Given the description of an element on the screen output the (x, y) to click on. 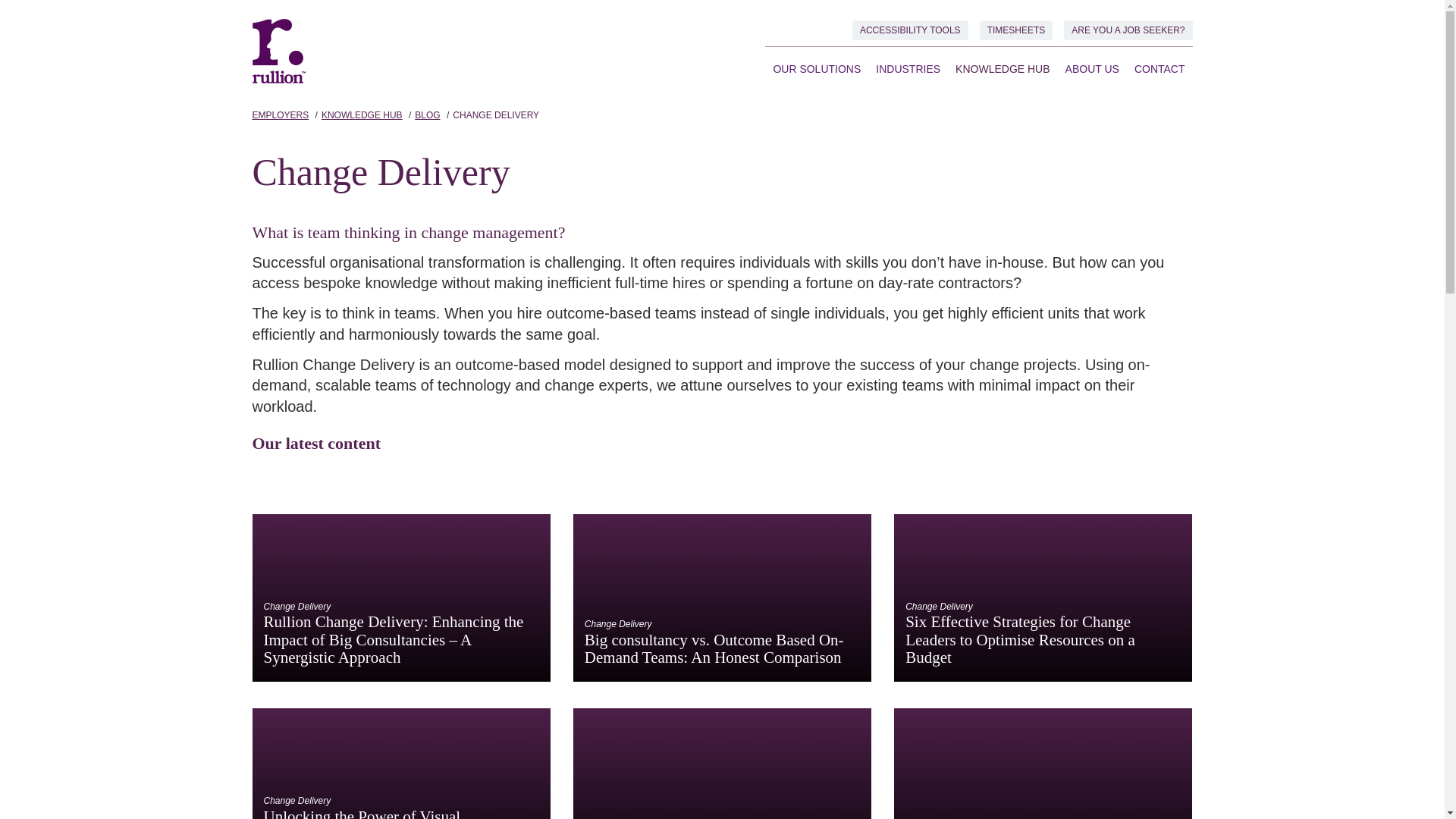
ACCESSIBILITY TOOLS (909, 30)
KNOWLEDGE HUB (1002, 67)
INDUSTRIES (907, 67)
TIMESHEETS (1015, 30)
OUR SOLUTIONS (816, 67)
ARE YOU A JOB SEEKER? (1128, 30)
